Given the description of an element on the screen output the (x, y) to click on. 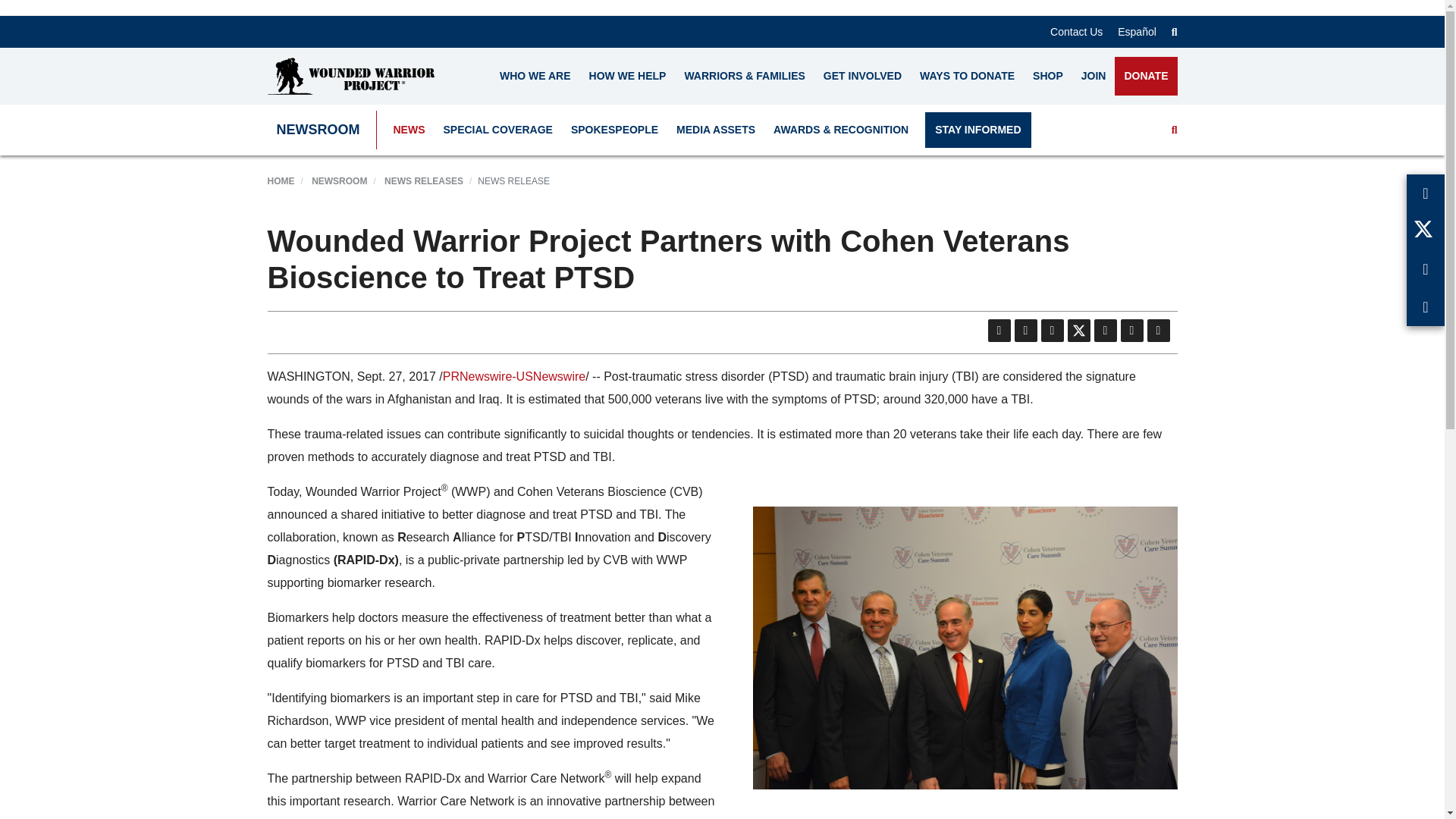
WHO WE ARE (534, 75)
Facebook Share (1131, 330)
GET INVOLVED (862, 75)
Twitter Share (1078, 330)
rss (1025, 330)
email (1051, 330)
Wounded Warrior Project Cohen Veterans Network (964, 647)
Linkedin Share (1104, 330)
WAYS TO DONATE (967, 75)
SHOP (1047, 75)
print (1158, 330)
pdf (998, 330)
HOW WE HELP (627, 75)
Contact Us (1075, 31)
